Given the description of an element on the screen output the (x, y) to click on. 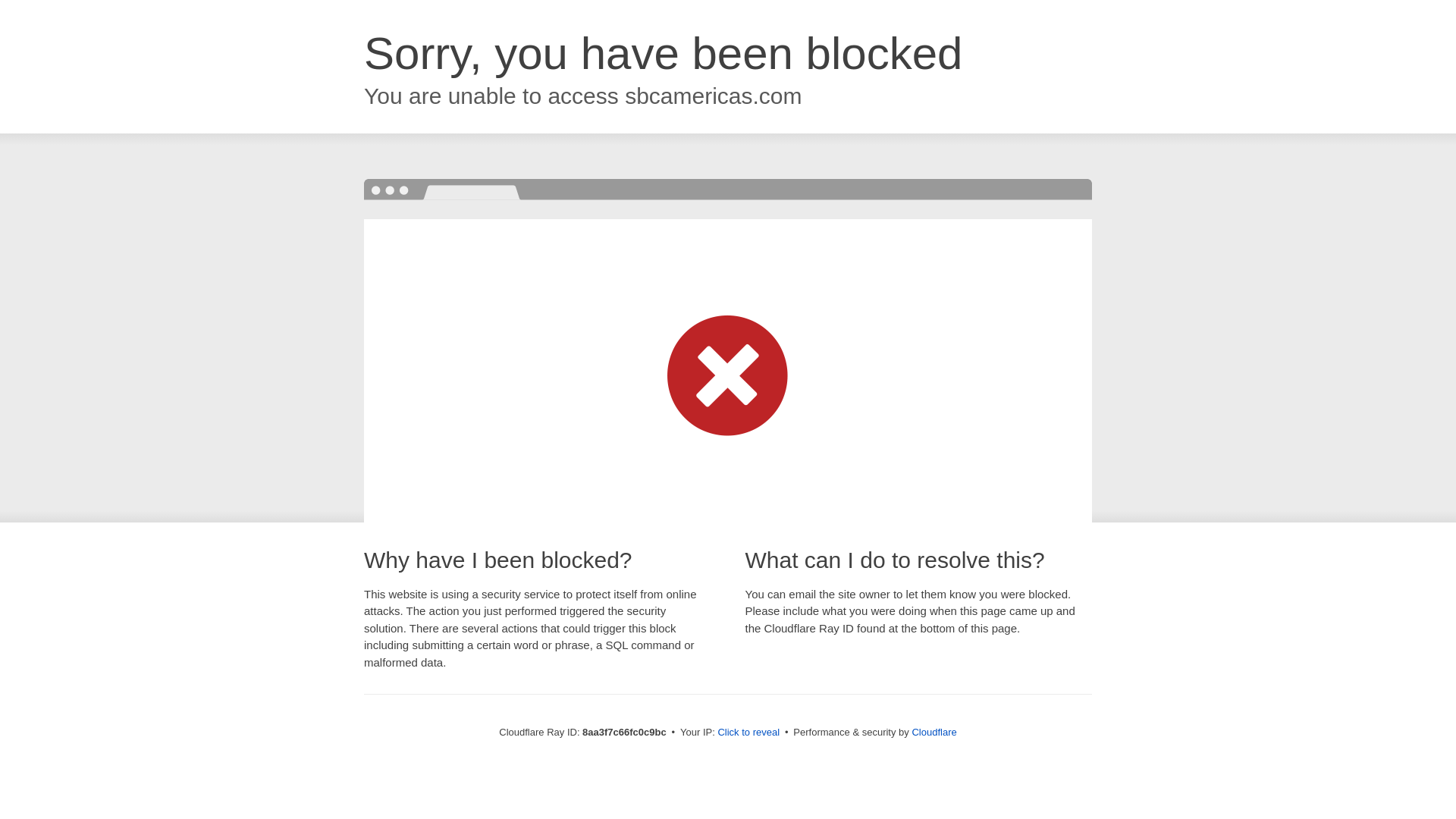
Cloudflare (933, 731)
Click to reveal (747, 732)
